Given the description of an element on the screen output the (x, y) to click on. 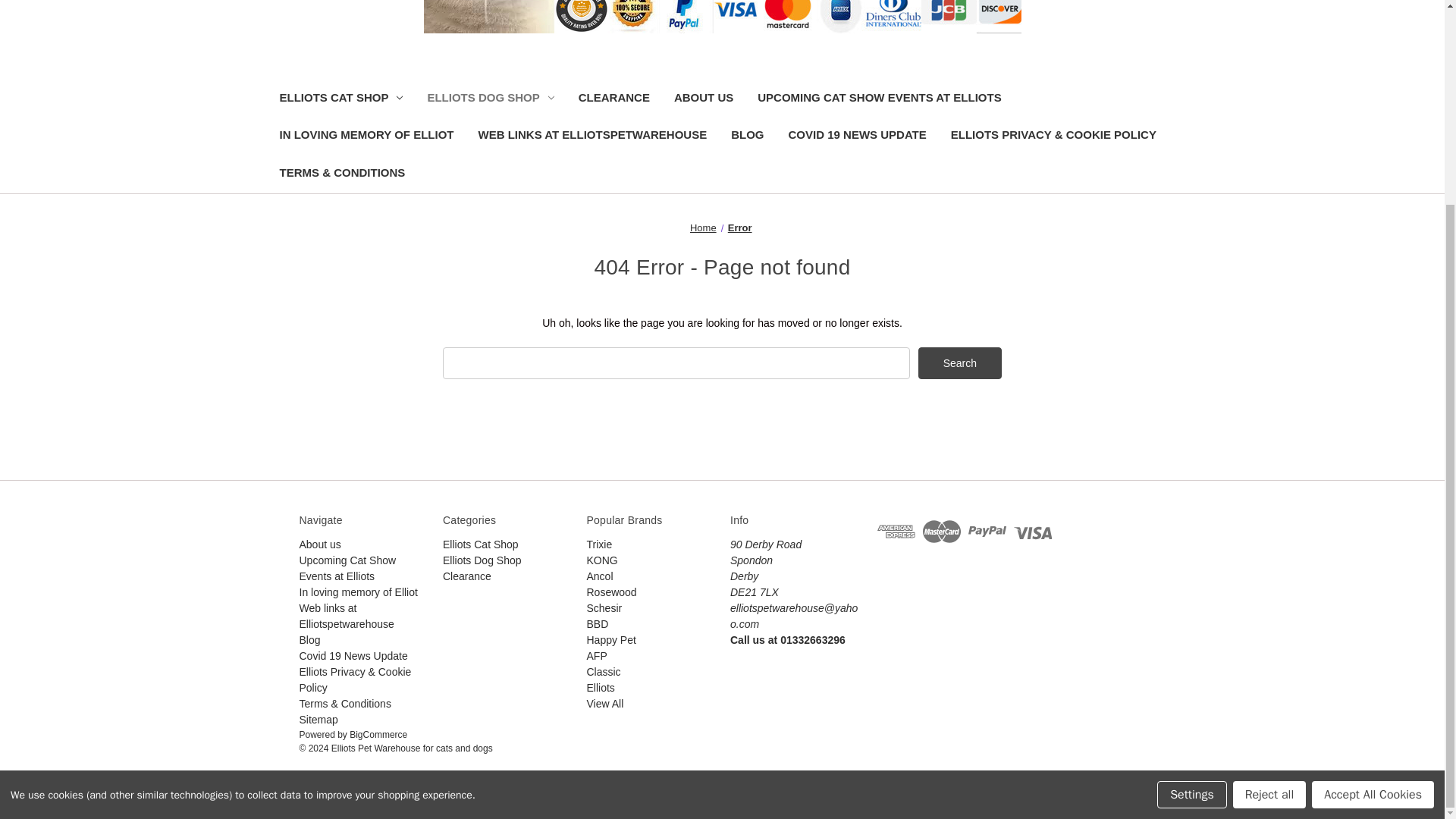
Search (959, 363)
ELLIOTS CAT SHOP (340, 99)
Visa (1032, 531)
Elliotspetwarehouse (721, 16)
PayPal (987, 531)
Mastercard (941, 531)
American Express (896, 531)
